Given the description of an element on the screen output the (x, y) to click on. 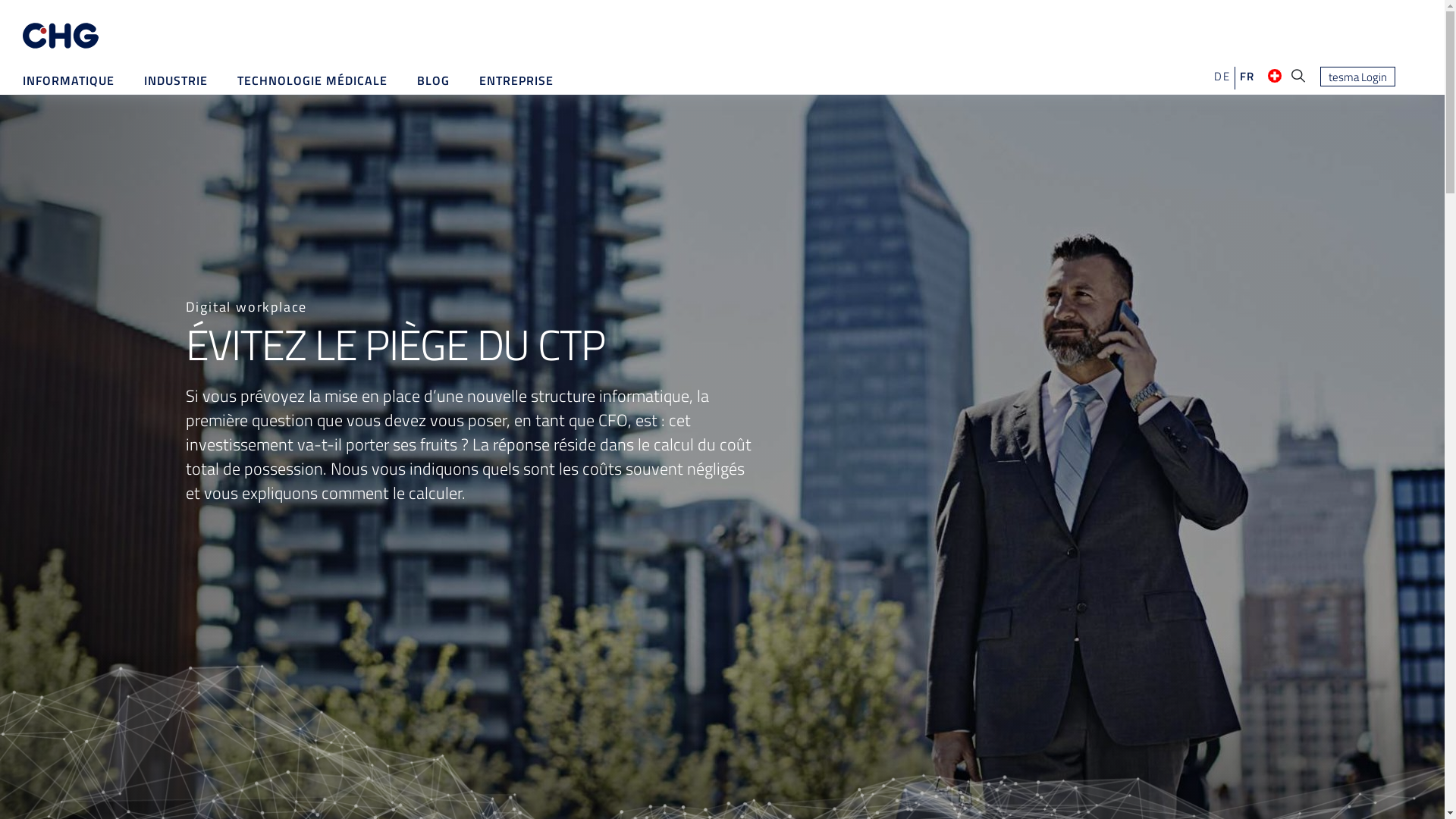
BLOG Element type: text (433, 80)
ENTREPRISE Element type: text (516, 80)
INFORMATIQUE Element type: text (68, 80)
INDUSTRIE Element type: text (175, 80)
FR Element type: text (1247, 75)
DE Element type: text (1222, 75)
tesma Login Element type: text (1357, 76)
